Given the description of an element on the screen output the (x, y) to click on. 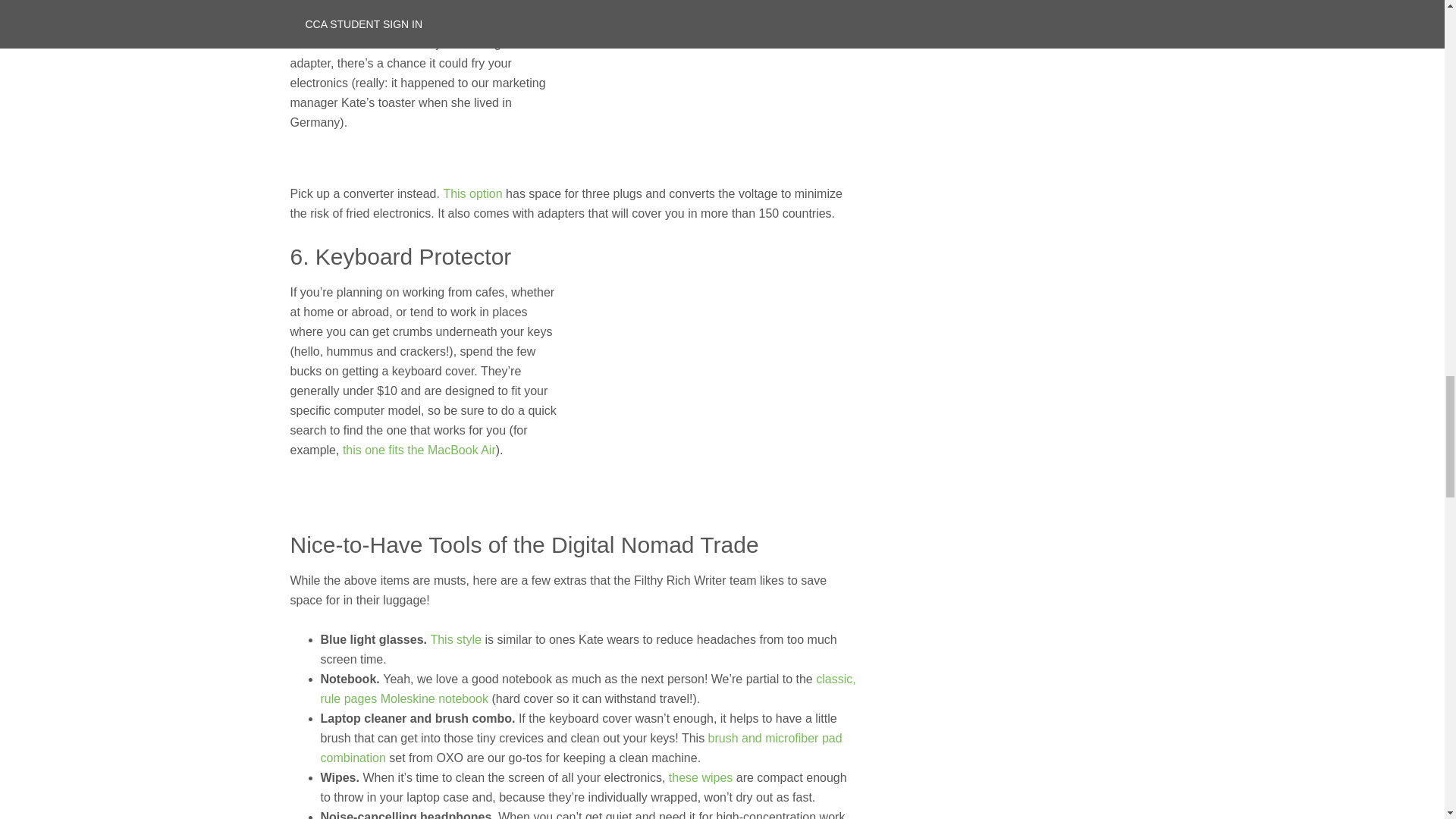
This option (472, 193)
this one fits the MacBook Air (419, 449)
